Given the description of an element on the screen output the (x, y) to click on. 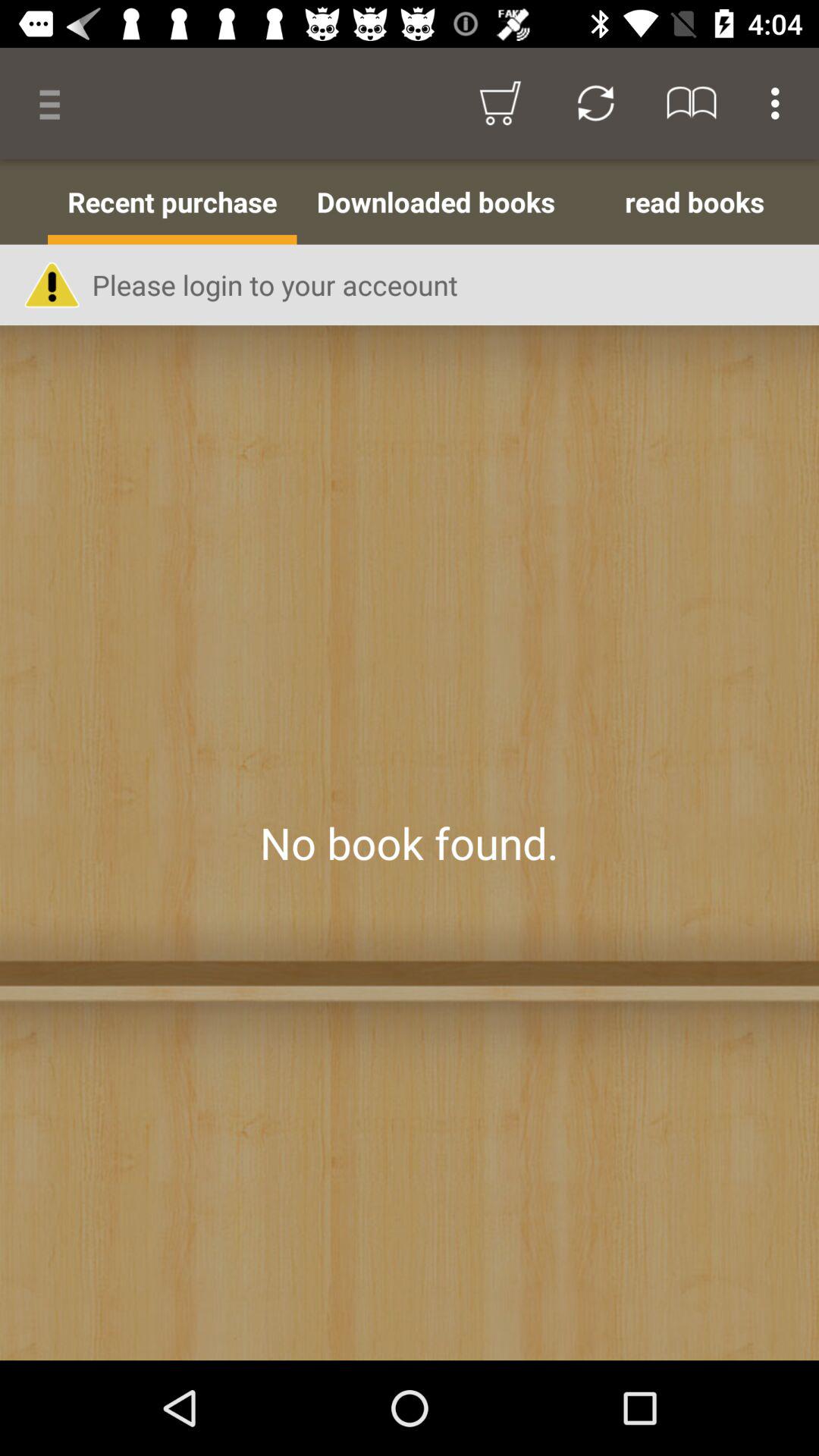
turn off item above the read books icon (779, 103)
